Given the description of an element on the screen output the (x, y) to click on. 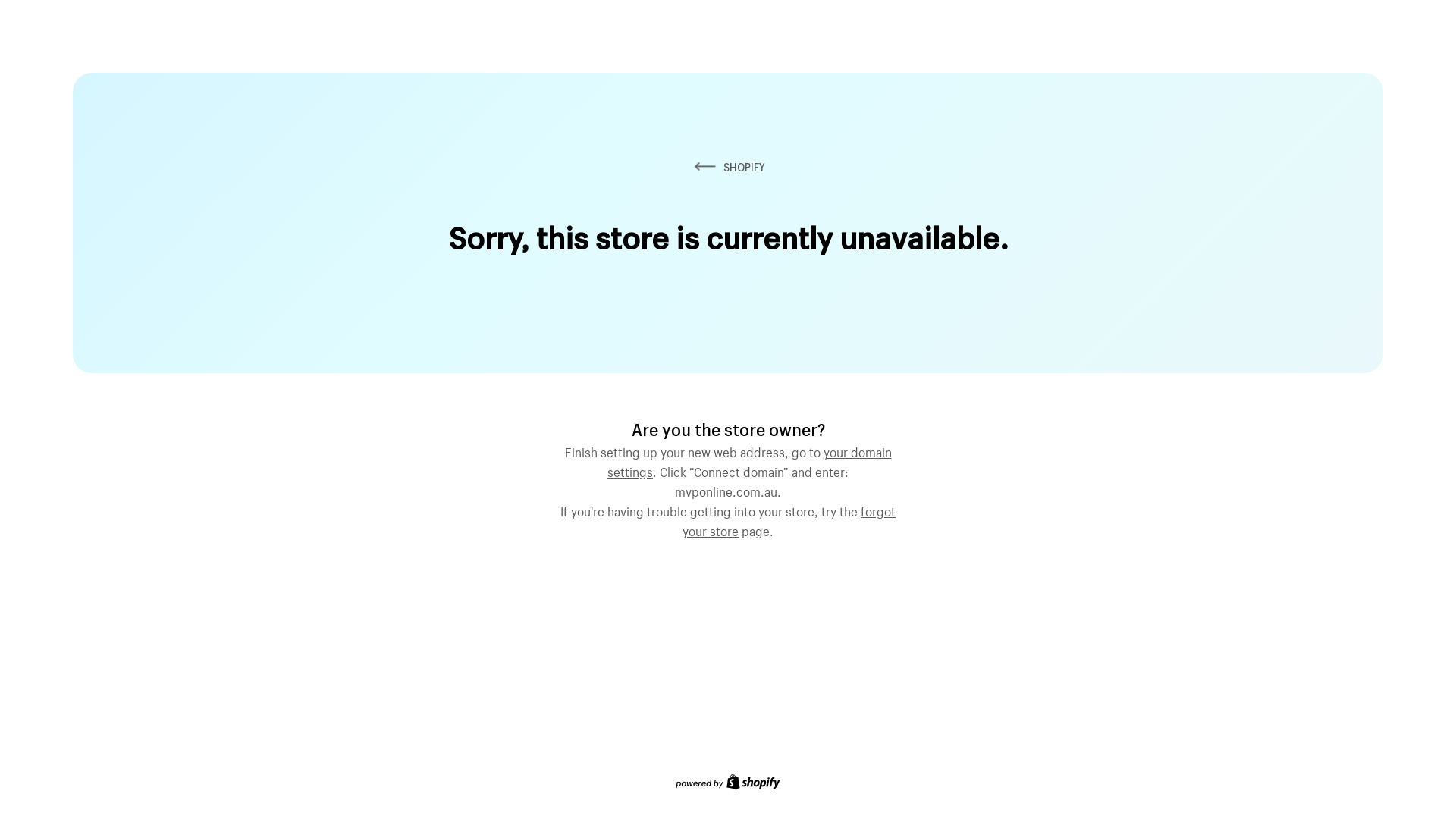
forgot your store Element type: text (788, 519)
your domain settings Element type: text (749, 460)
SHOPIFY Element type: text (727, 167)
